Given the description of an element on the screen output the (x, y) to click on. 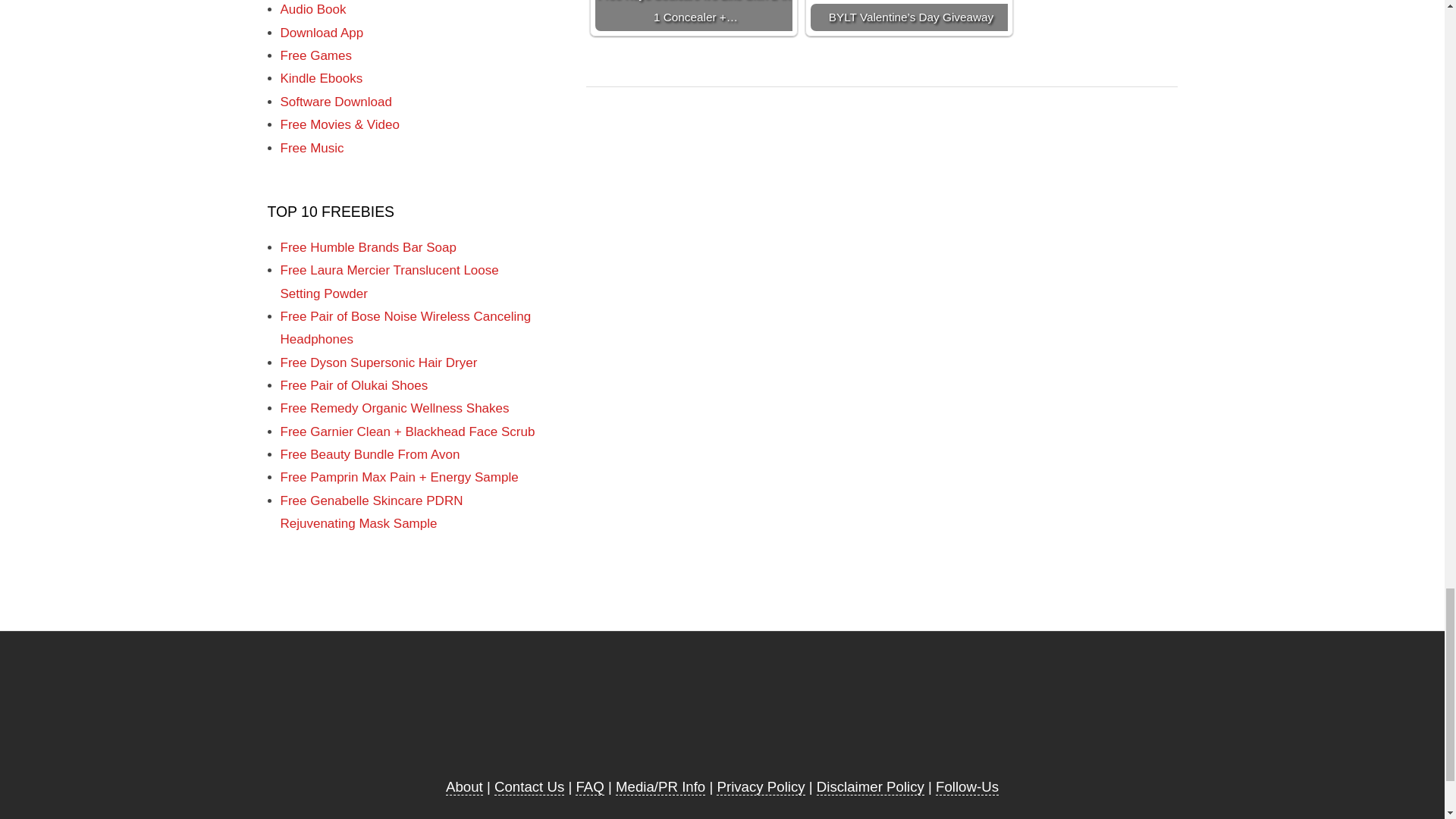
Advertisement (721, 716)
